Given the description of an element on the screen output the (x, y) to click on. 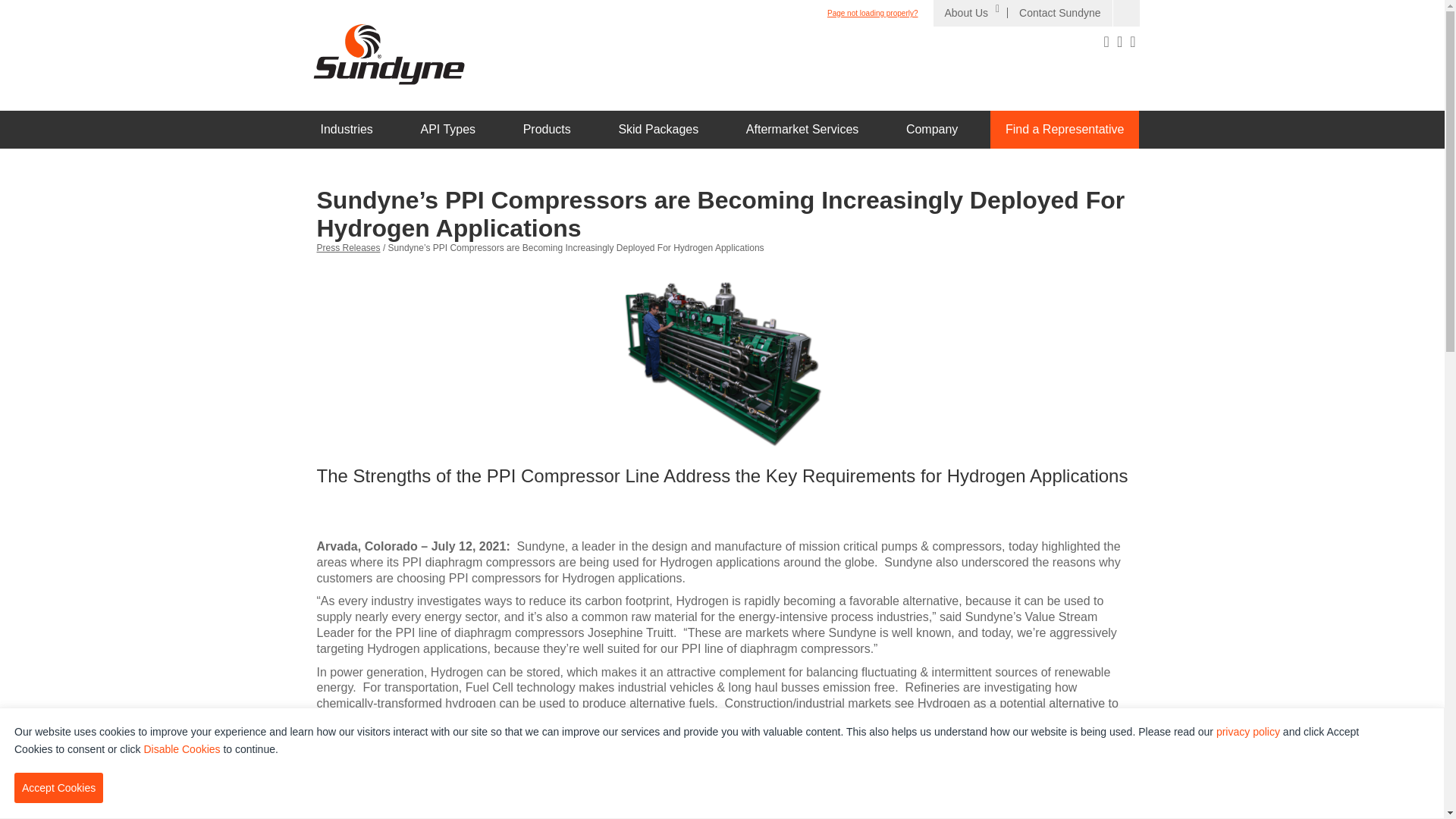
About Us (970, 12)
Products (547, 129)
Contact Sundyne (1059, 12)
Sundyne (388, 53)
Industries (345, 129)
API Types (447, 129)
Page not loading properly? (872, 13)
Accept Cookies (58, 788)
